Given the description of an element on the screen output the (x, y) to click on. 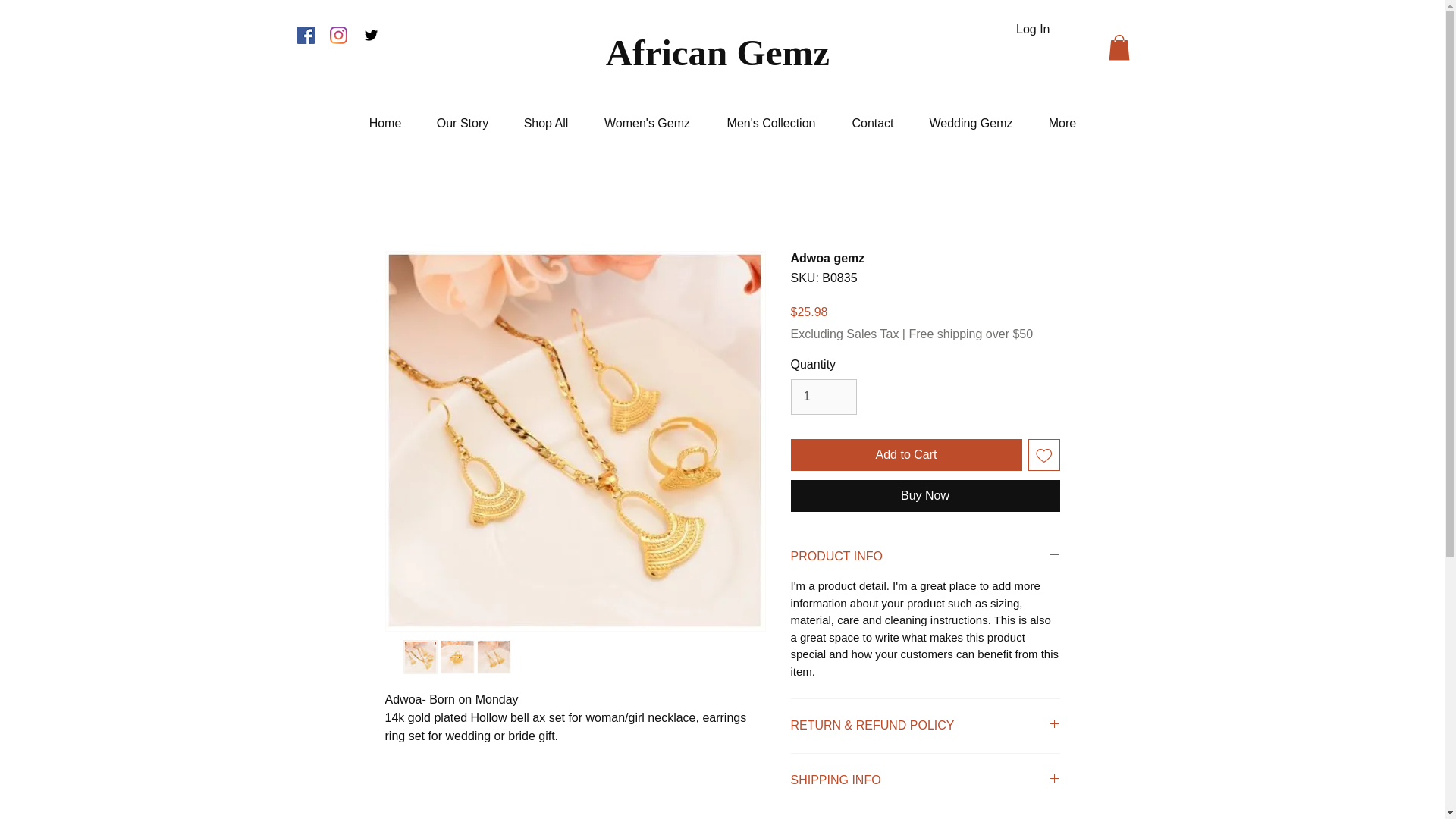
Buy Now (924, 495)
1 (823, 396)
Add to Cart (906, 454)
Home (384, 123)
SHIPPING INFO (924, 780)
Contact (872, 123)
Our Story (462, 123)
Men's Collection (770, 123)
African Gemz  (722, 51)
Women's Gemz (646, 123)
